Given the description of an element on the screen output the (x, y) to click on. 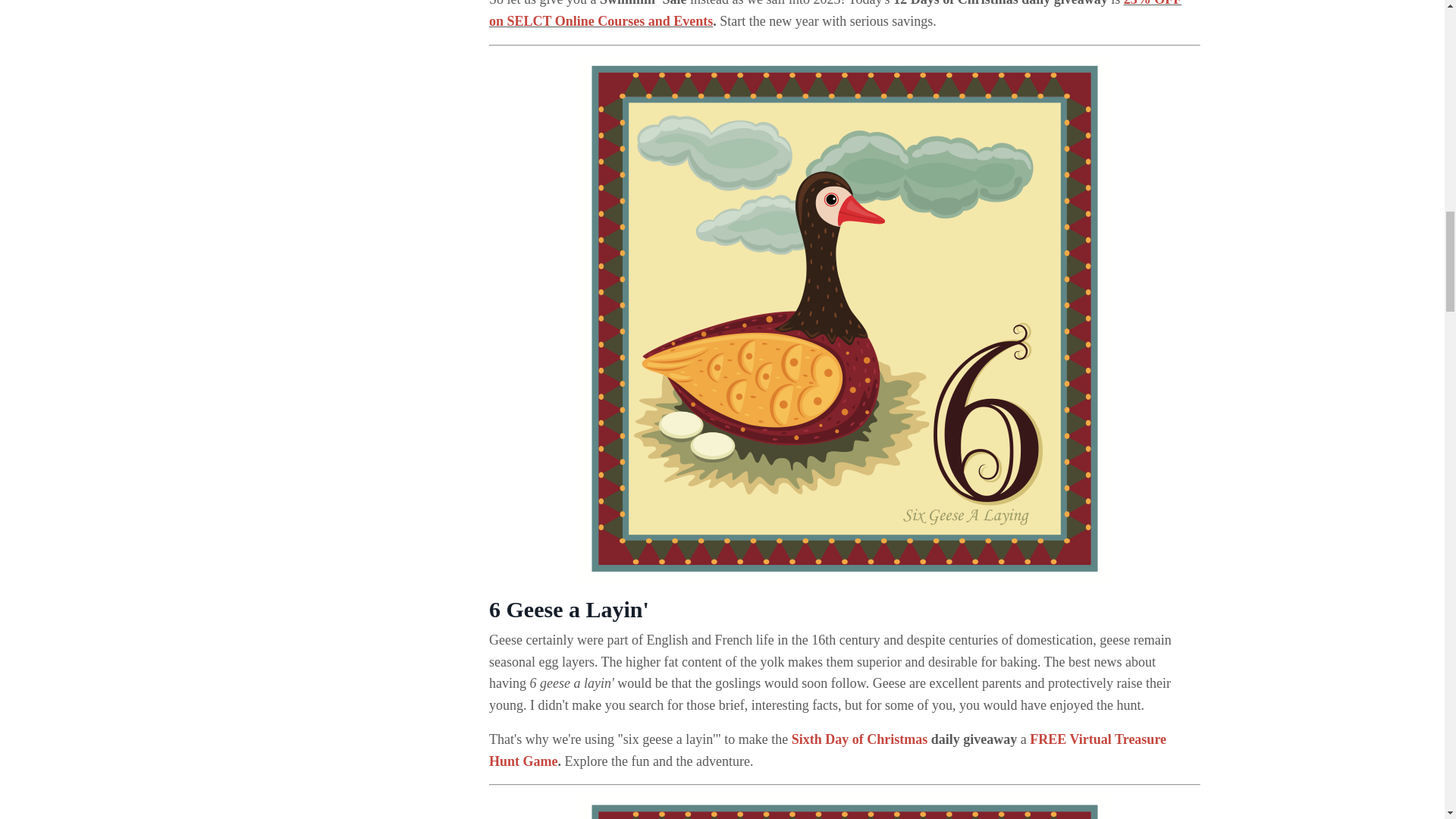
Sixth Day of Christmas (860, 739)
FREE Virtual Treasure Hunt Game (827, 750)
FREE Virtual Treasure Hunt Game (827, 750)
Sixth Day of Christmas (860, 739)
